Given the description of an element on the screen output the (x, y) to click on. 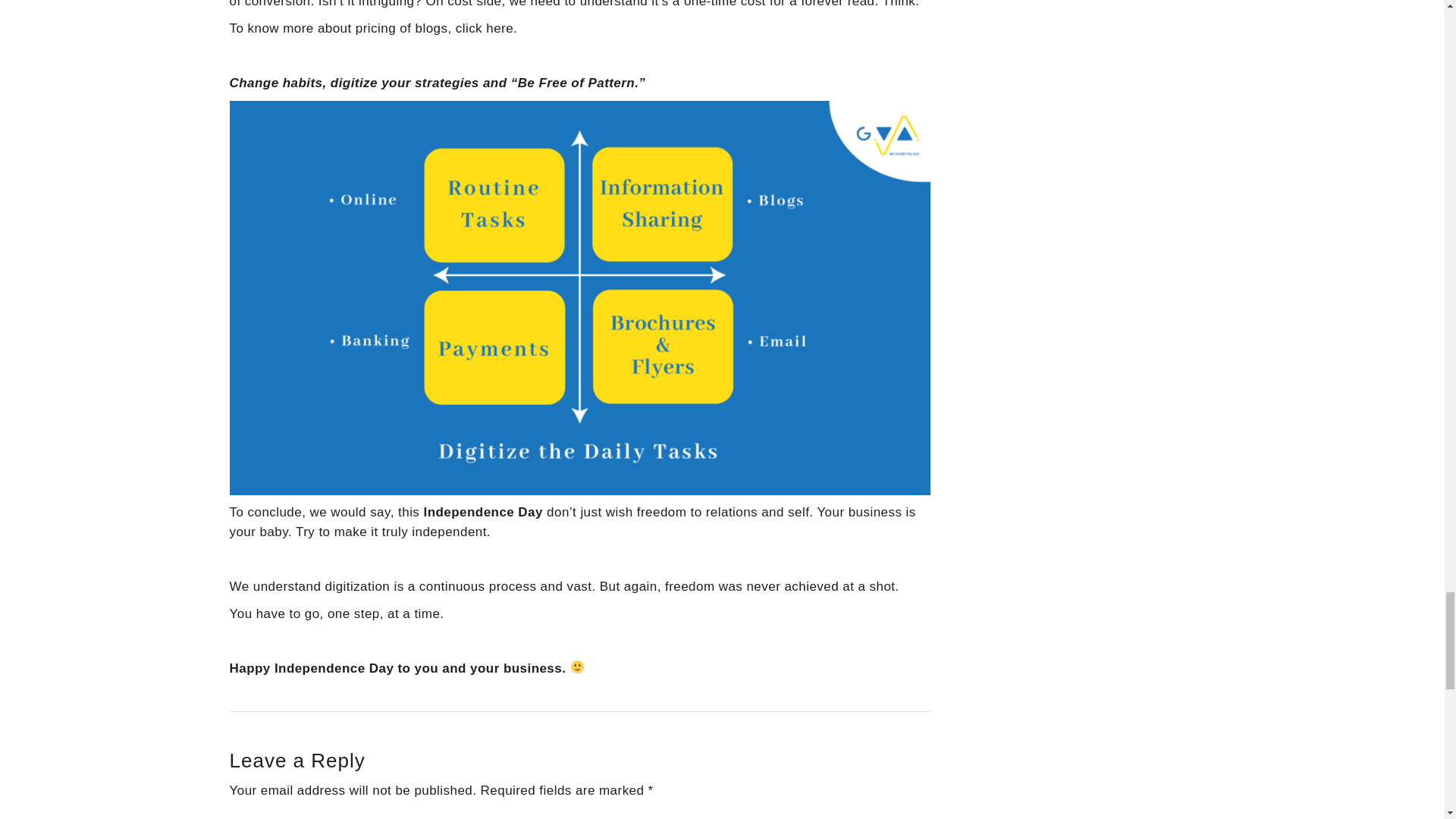
click here (484, 28)
